Given the description of an element on the screen output the (x, y) to click on. 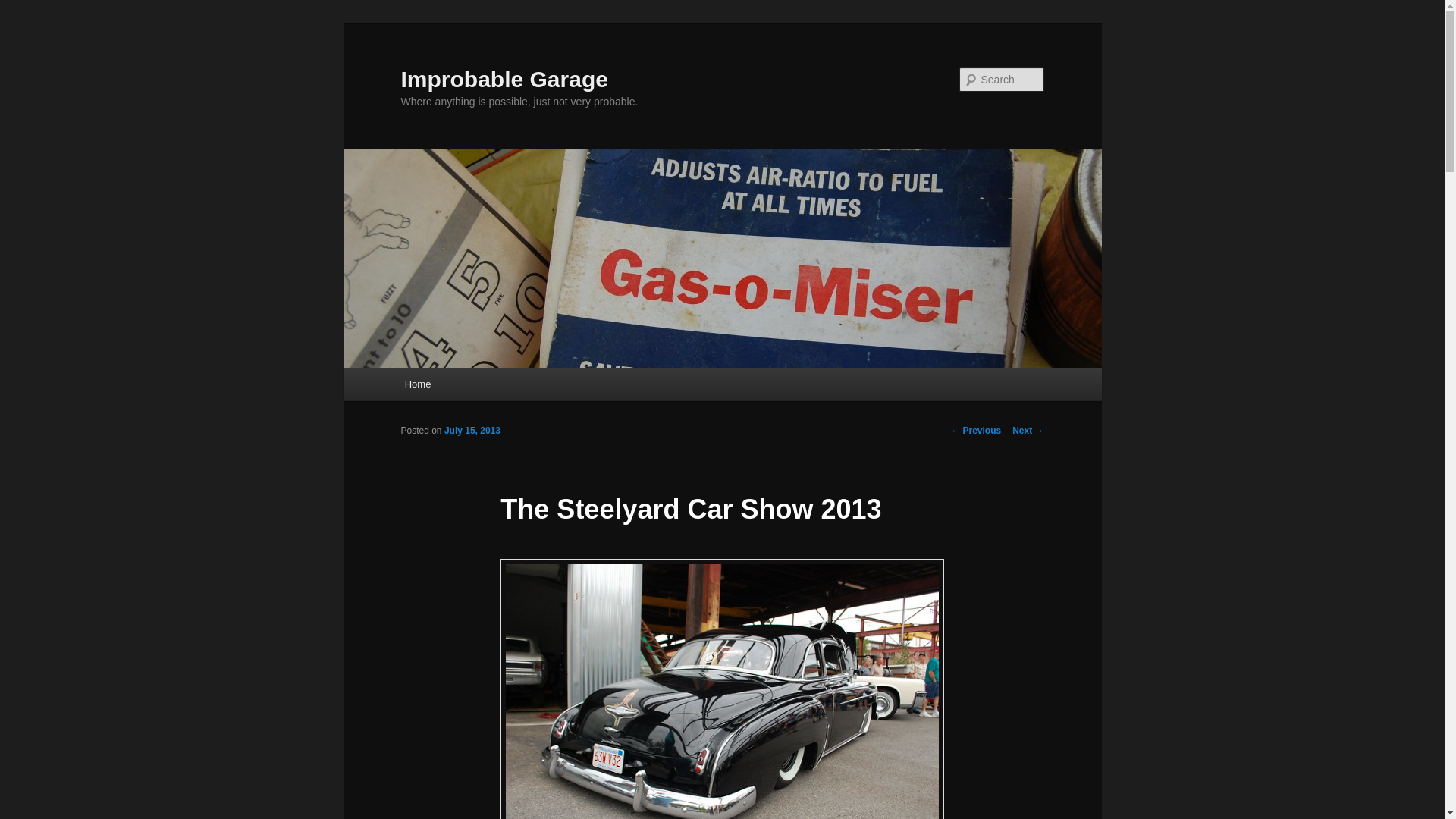
Search (24, 8)
Improbable Garage (503, 78)
Home (417, 383)
July 15, 2013 (472, 430)
9:54 am (472, 430)
